Given the description of an element on the screen output the (x, y) to click on. 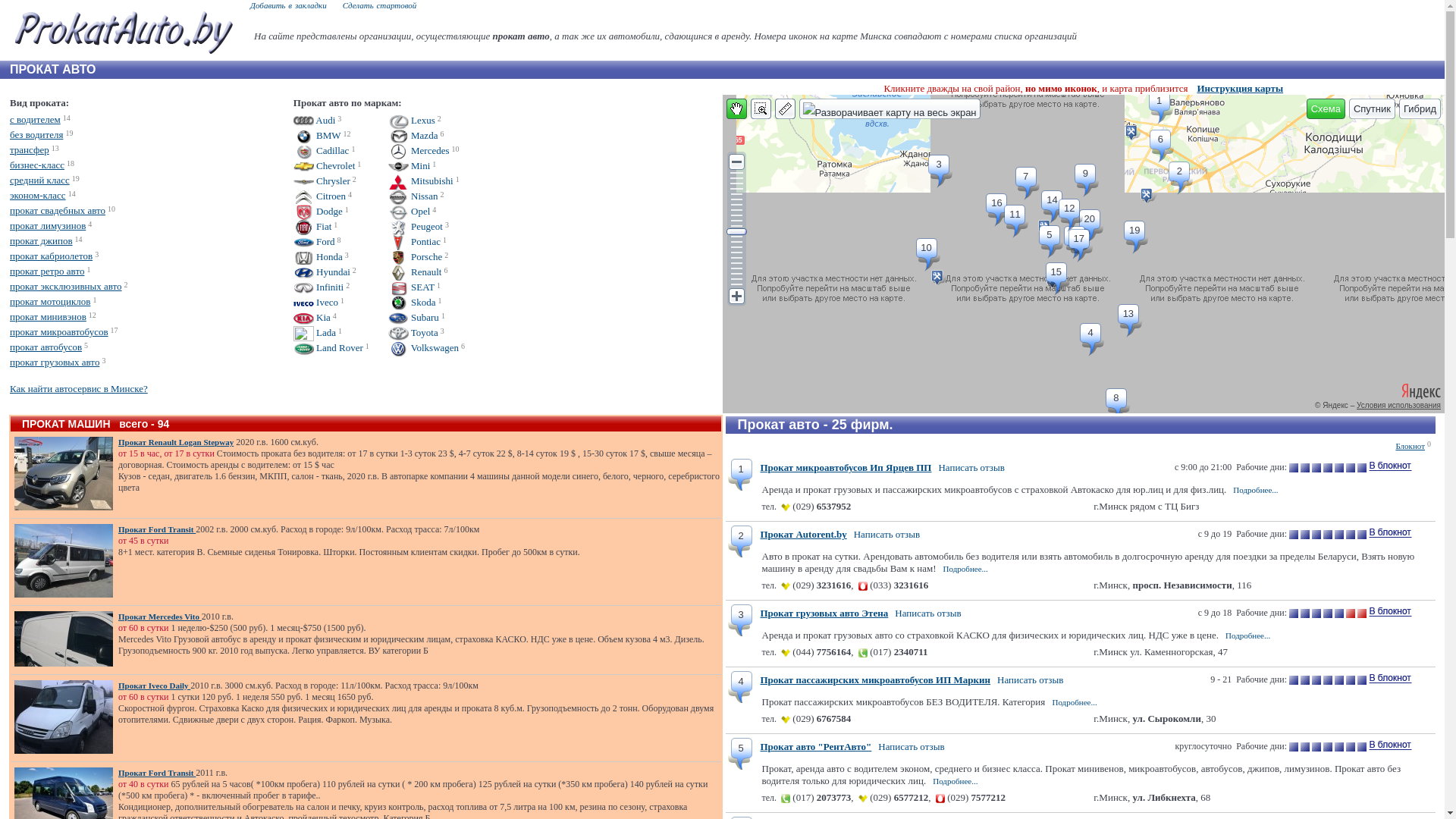
 Land Rover Element type: text (328, 347)
 SEAT Element type: text (411, 286)
 Chrysler Element type: text (321, 180)
 Pontiac Element type: text (414, 241)
 Iveco Element type: text (315, 301)
 Dodge Element type: text (317, 210)
 Infiniti Element type: text (318, 286)
 Honda Element type: text (317, 256)
 Mazda Element type: text (413, 135)
 Hyundai Element type: text (321, 271)
 Audi Element type: text (314, 119)
1 Element type: text (739, 466)
 Renault Element type: text (415, 271)
5 Element type: text (739, 745)
 Mercedes Element type: text (418, 150)
 BMW Element type: text (317, 135)
 Nissan Element type: text (413, 195)
 Mini Element type: text (409, 165)
4 Element type: text (739, 679)
 Ford Element type: text (314, 241)
 Peugeot Element type: text (415, 226)
 Opel Element type: text (409, 210)
 Mitsubishi Element type: text (420, 180)
2 Element type: text (739, 533)
 Volkswagen Element type: text (423, 347)
 Lada Element type: text (314, 332)
 Porsche Element type: text (415, 256)
 Chevrolet Element type: text (324, 165)
 Cadillac Element type: text (321, 150)
3 Element type: text (739, 612)
 Toyota Element type: text (413, 332)
 Kia Element type: text (311, 317)
 Lexus Element type: text (411, 119)
 Fiat Element type: text (312, 226)
 Subaru Element type: text (413, 317)
 Skoda Element type: text (412, 301)
 Citroen Element type: text (319, 195)
